Given the description of an element on the screen output the (x, y) to click on. 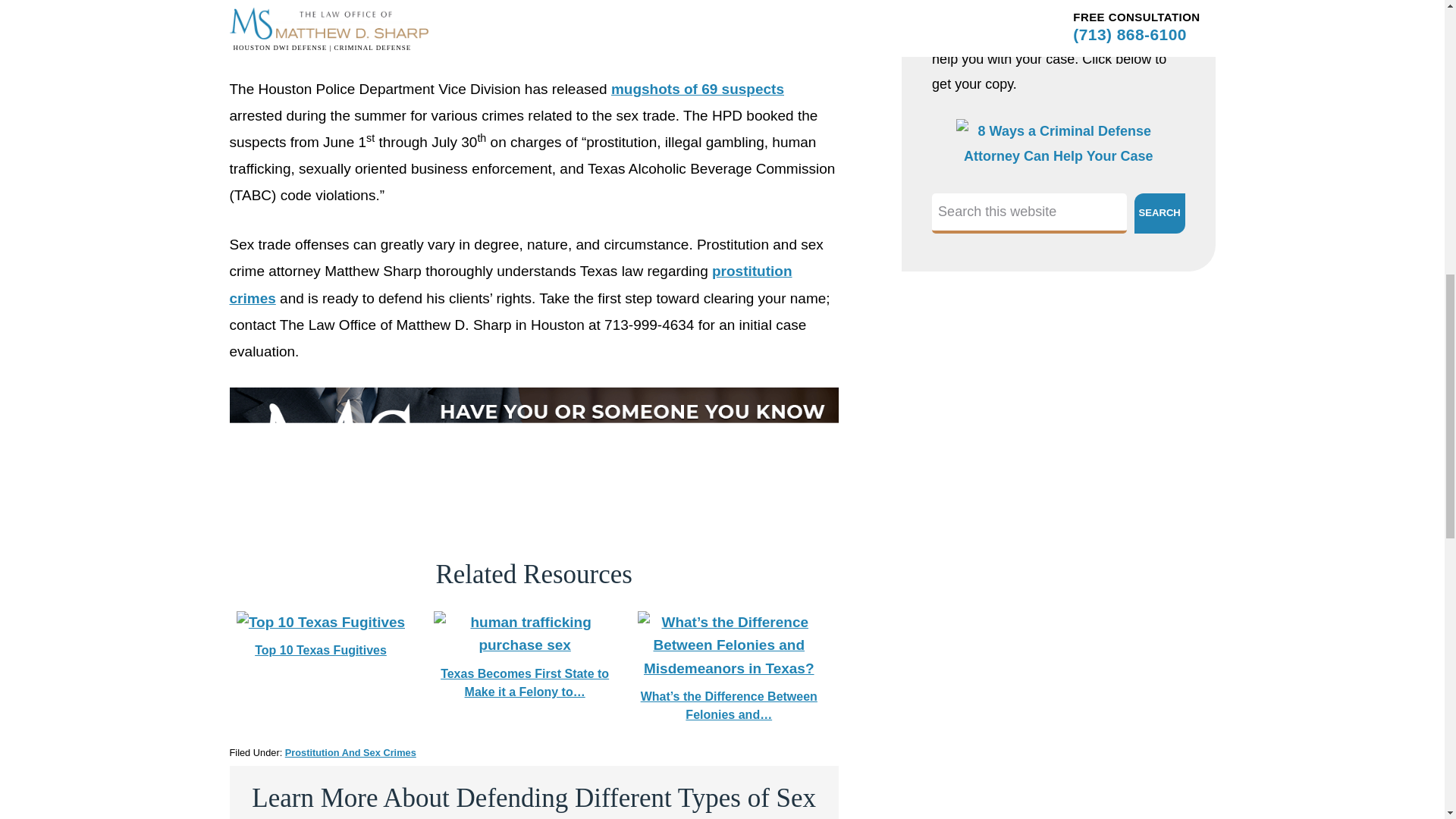
mugshots of 69 suspects (697, 89)
Search (1159, 212)
Search (1159, 212)
Top 10 Texas Fugitives (319, 621)
Prostitution And Sex Crimes (350, 752)
8 Ways a Criminal Defense Attorney Can Help Your Case (1058, 155)
Top 10 Texas Fugitives (320, 635)
prostitution crimes (510, 283)
